Given the description of an element on the screen output the (x, y) to click on. 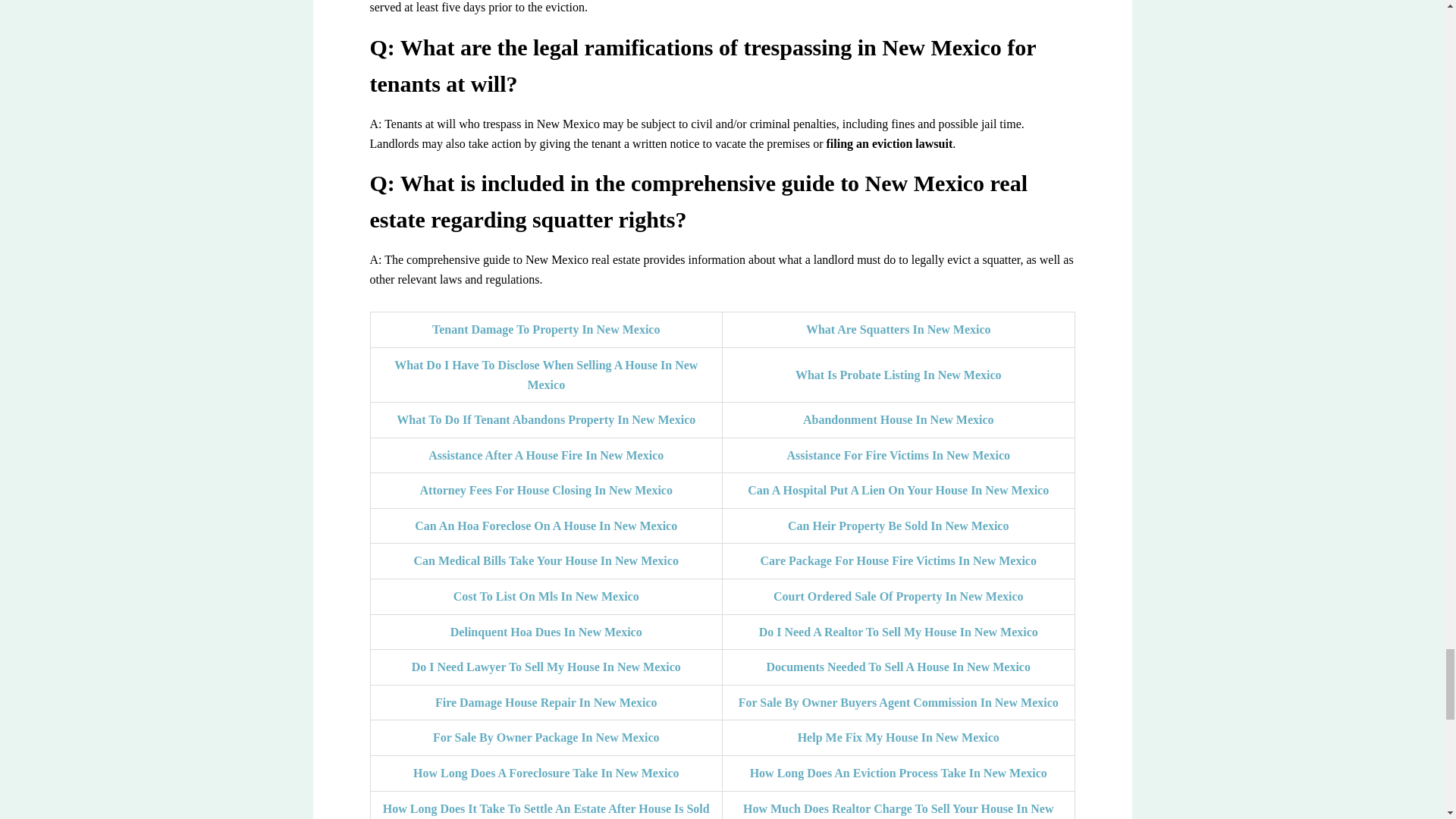
Assistance For Fire Victims In New Mexico (898, 454)
Abandonment House In New Mexico (898, 419)
Attorney Fees For House Closing In New Mexico (546, 490)
Assistance After A House Fire In New Mexico (545, 454)
Tenant Damage To Property In New Mexico (545, 328)
What To Do If Tenant Abandons Property In New Mexico (545, 419)
What Are Squatters In New Mexico (898, 328)
What Is Probate Listing In New Mexico (897, 374)
